Given the description of an element on the screen output the (x, y) to click on. 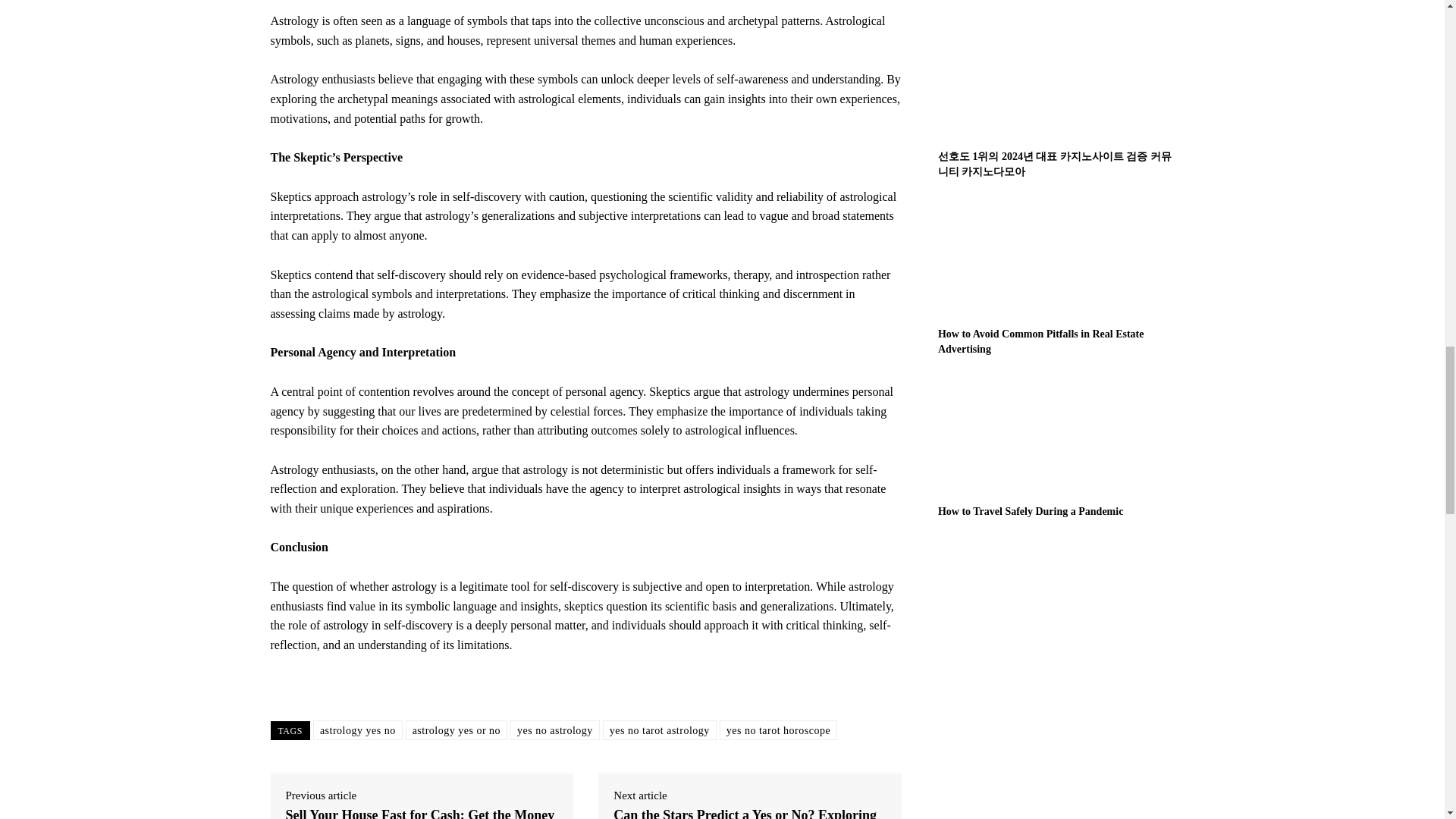
Sell Your House Fast for Cash: Get the Money You Need Now (421, 813)
yes no astrology (555, 730)
yes no tarot astrology (659, 730)
yes no tarot horoscope (778, 730)
How to Avoid Common Pitfalls in Real Estate Advertising (1055, 257)
astrology yes or no (456, 730)
astrology yes no (358, 730)
